Given the description of an element on the screen output the (x, y) to click on. 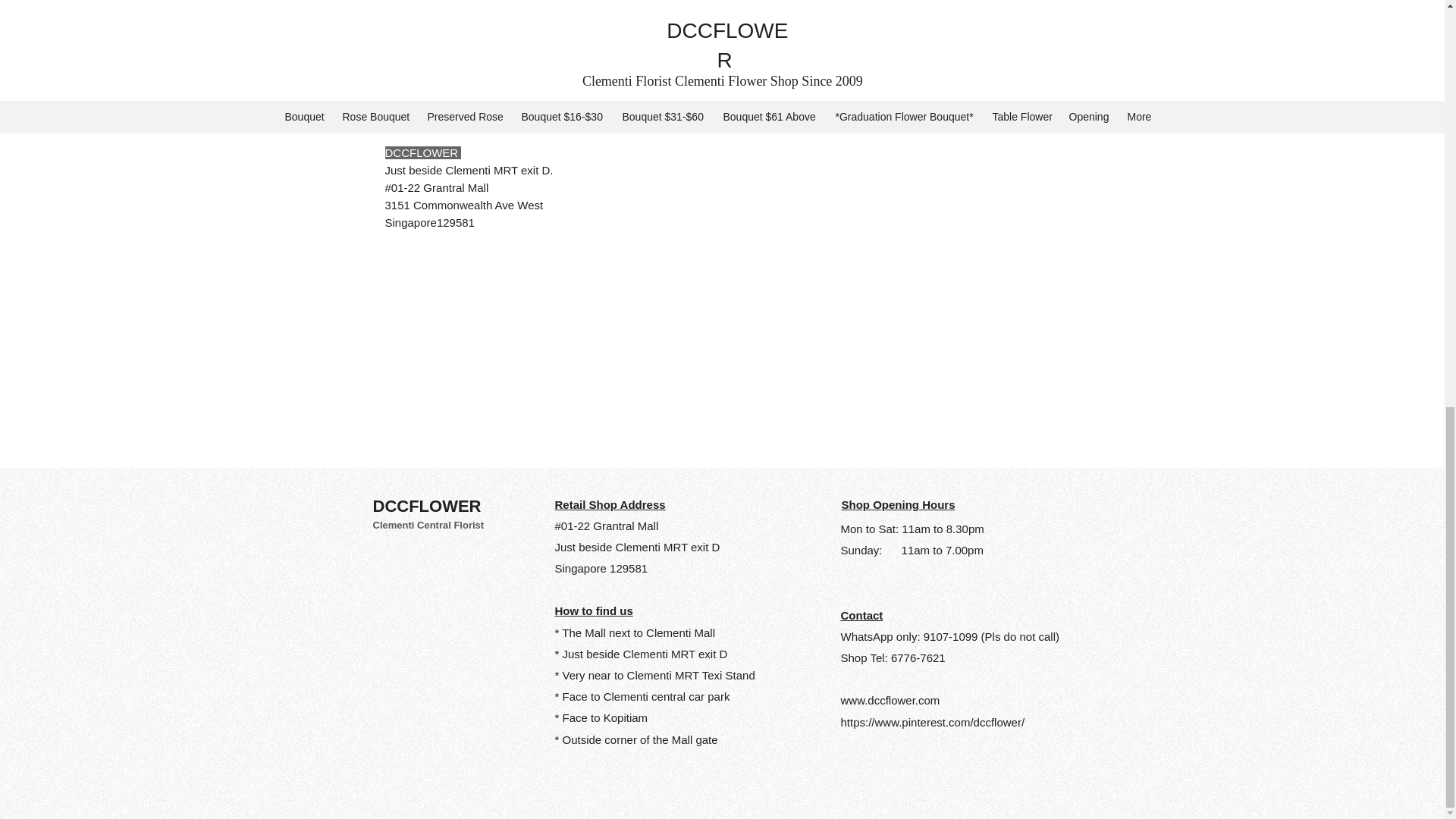
DCCFLOWER  (429, 505)
